Given the description of an element on the screen output the (x, y) to click on. 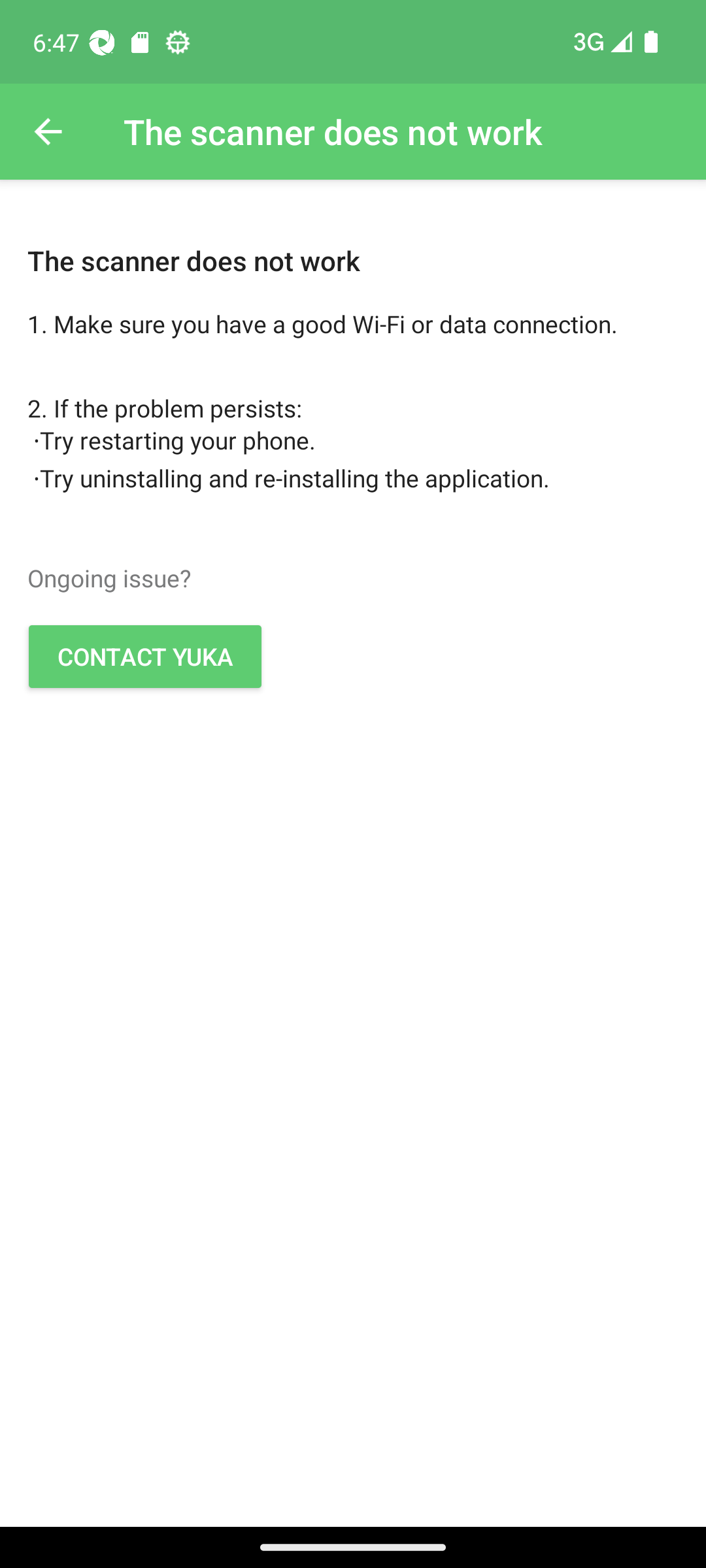
Navigate up (48, 131)
CONTACT YUKA (144, 655)
